Given the description of an element on the screen output the (x, y) to click on. 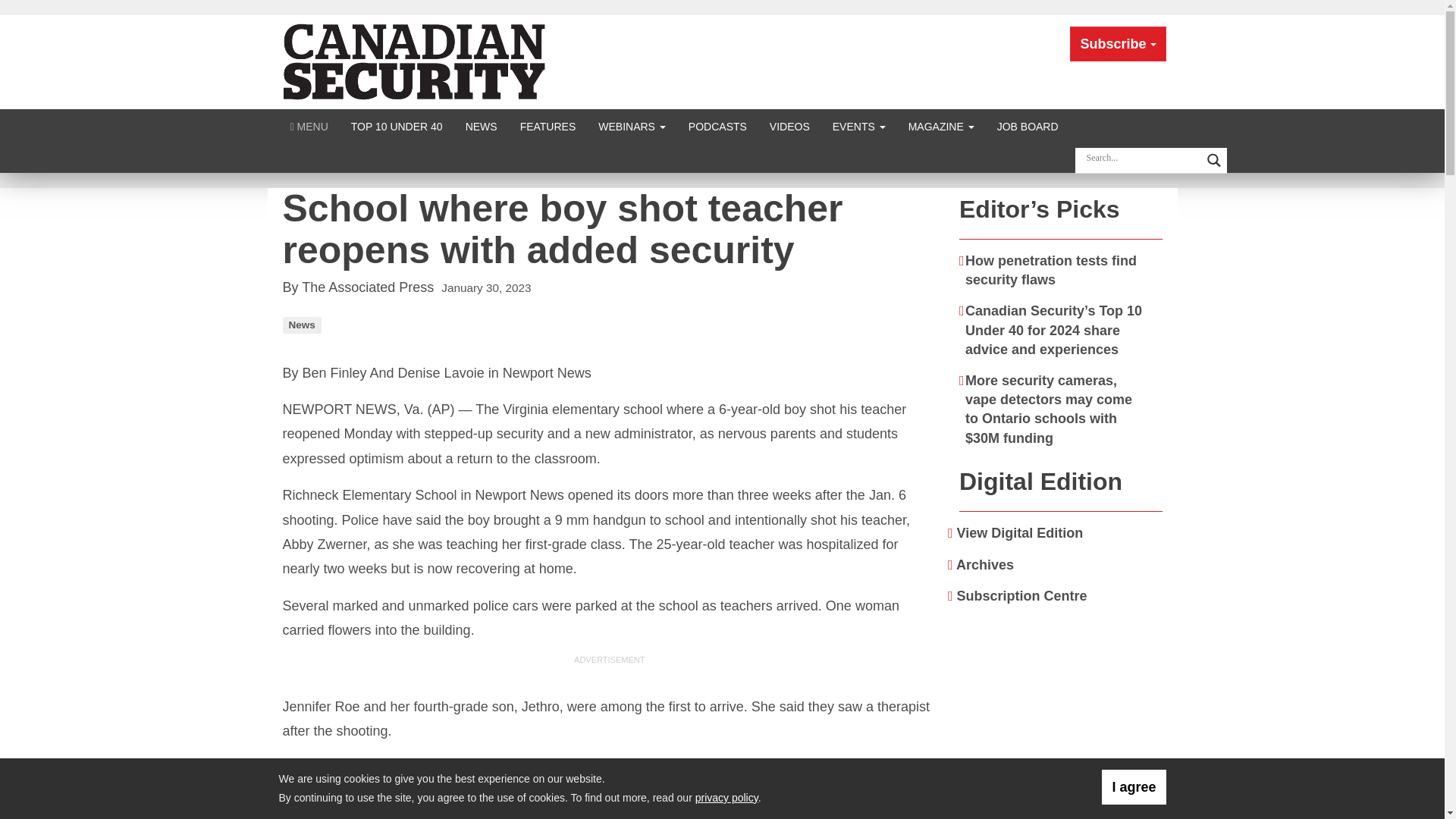
Subscribe (1118, 43)
FEATURES (548, 125)
MENU (309, 125)
Click to show site navigation (309, 125)
JOB BOARD (1027, 125)
Canadian Security Magazine (415, 61)
MAGAZINE (940, 125)
NEWS (481, 125)
EVENTS (858, 125)
VIDEOS (789, 125)
